Given the description of an element on the screen output the (x, y) to click on. 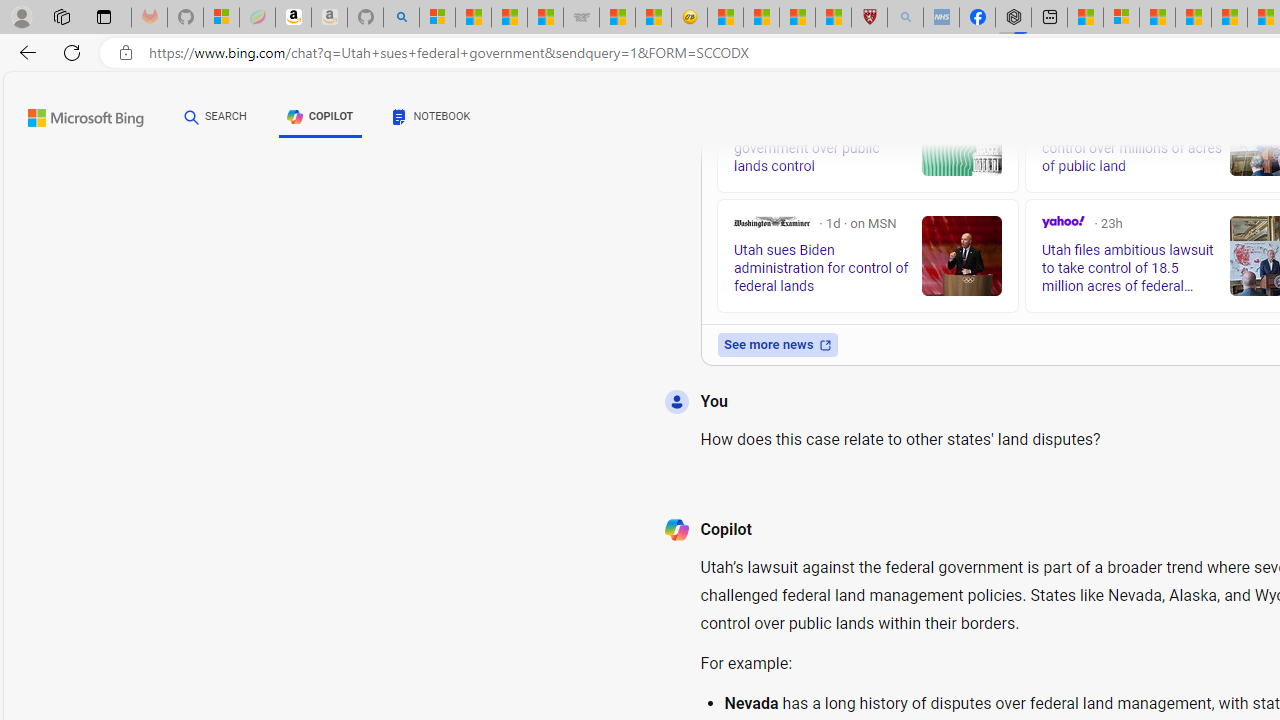
Axios Salt Lake City on MSN (741, 103)
